Given the description of an element on the screen output the (x, y) to click on. 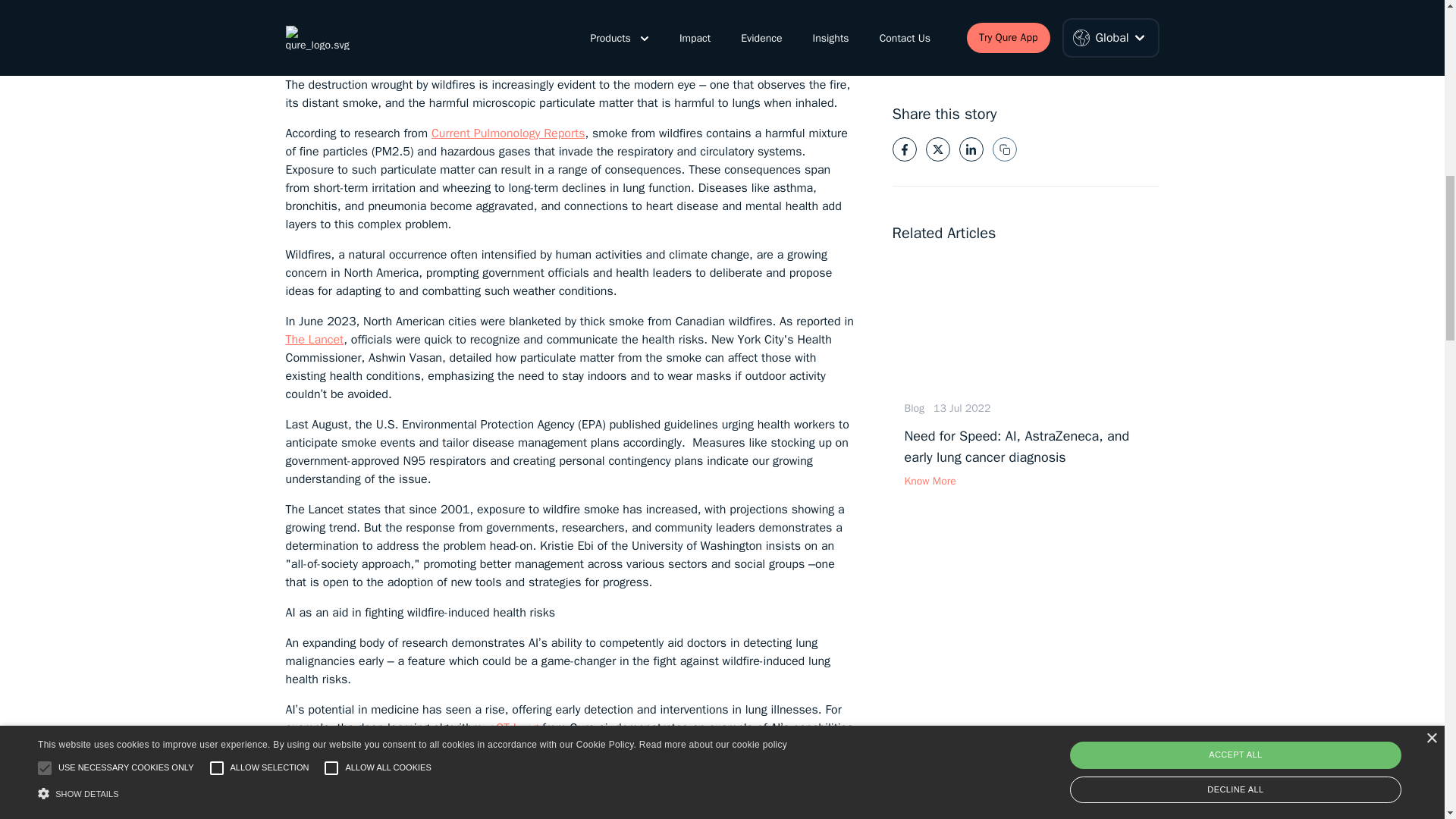
Know More (1025, 477)
Chest (507, 776)
Current Pulmonology Reports (507, 133)
qCT-Lung (512, 727)
The Lancet (314, 339)
